Given the description of an element on the screen output the (x, y) to click on. 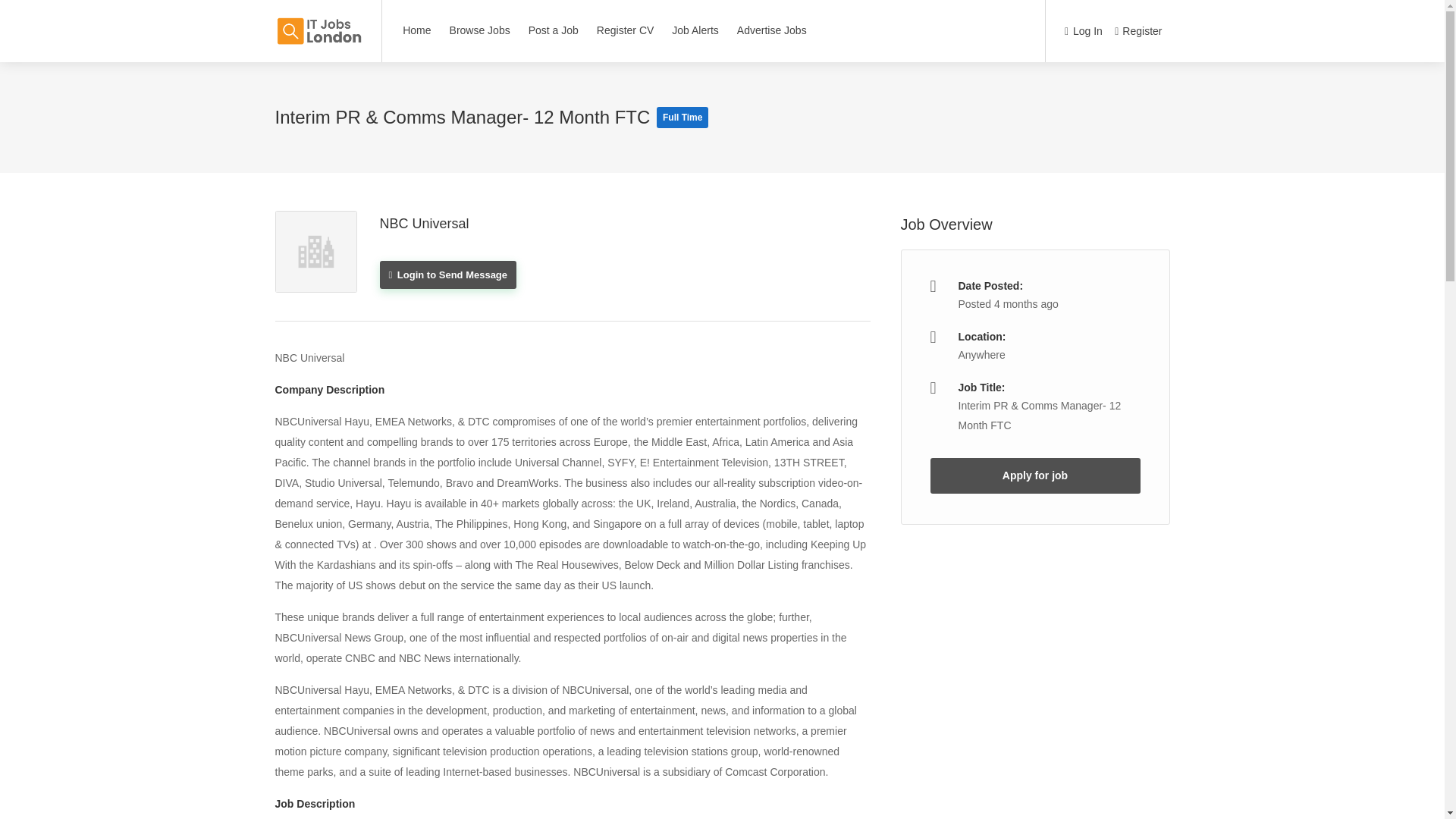
Login to Send Message (447, 275)
Post a Job (552, 30)
Job Alerts (694, 30)
Advertise Jobs (772, 30)
Register CV (625, 30)
NBC Universal (423, 223)
Home (416, 30)
IT Jobs London (318, 22)
Browse Jobs (479, 30)
Register (1138, 31)
Log In (1083, 31)
Apply for job (1035, 475)
